Given the description of an element on the screen output the (x, y) to click on. 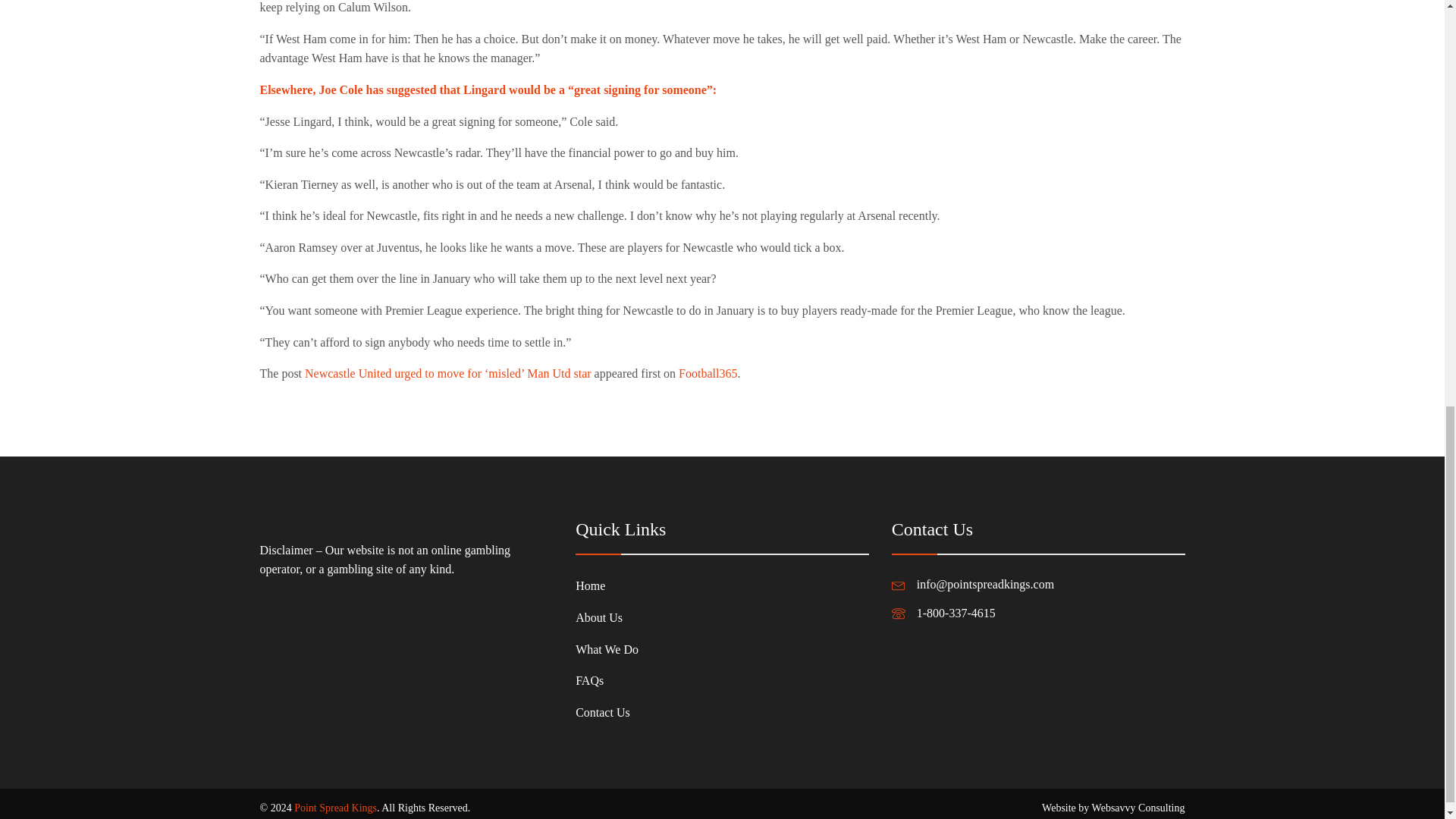
Point Spread Kings (335, 808)
Home (607, 585)
Website by Websavvy Consulting (1113, 808)
Contact Us (607, 712)
1-800-337-4615 (956, 613)
FAQs (607, 680)
Football365 (707, 373)
About Us (607, 617)
What We Do (607, 649)
